Given the description of an element on the screen output the (x, y) to click on. 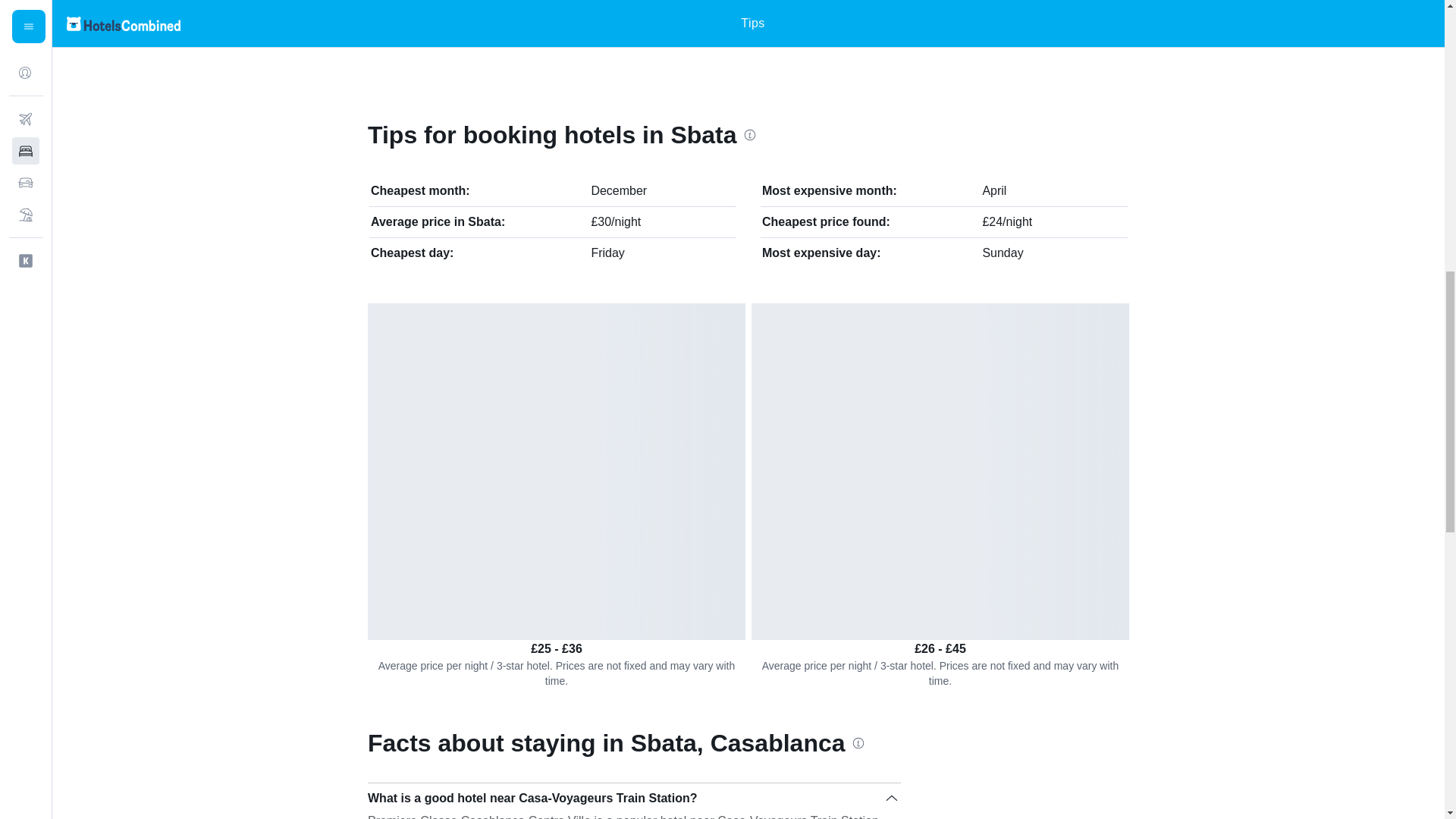
Sunday (1002, 252)
Home (373, 22)
Friday (607, 252)
April (993, 190)
Casablanca Hotels (553, 22)
Morocco Hotels (435, 22)
December (618, 190)
